Given the description of an element on the screen output the (x, y) to click on. 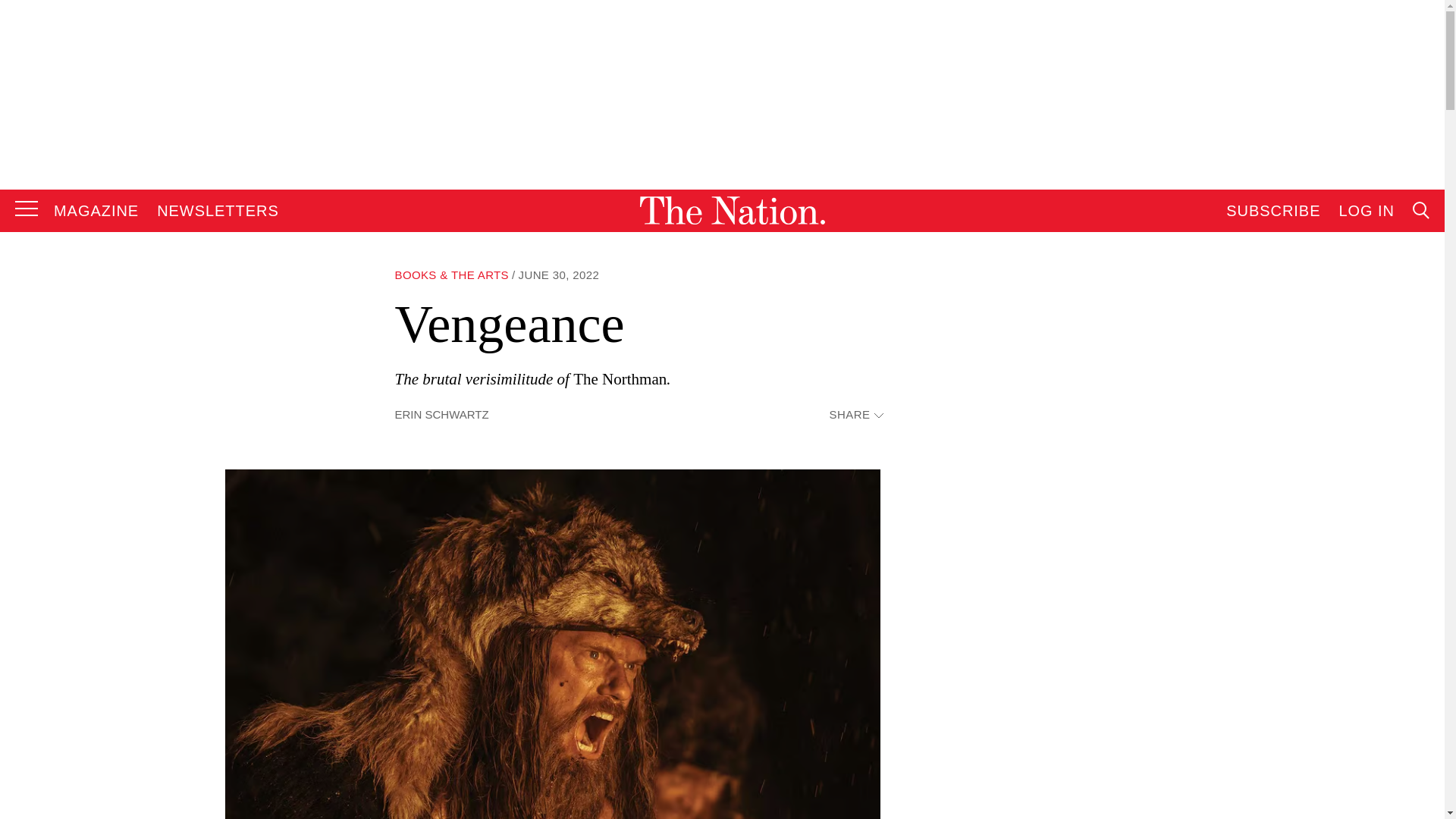
LOG IN (1366, 210)
SHARE (855, 414)
SUBSCRIBE (1272, 210)
ERIN SCHWARTZ (440, 413)
Search (1278, 364)
NEWSLETTERS (218, 210)
MAGAZINE (95, 210)
